Given the description of an element on the screen output the (x, y) to click on. 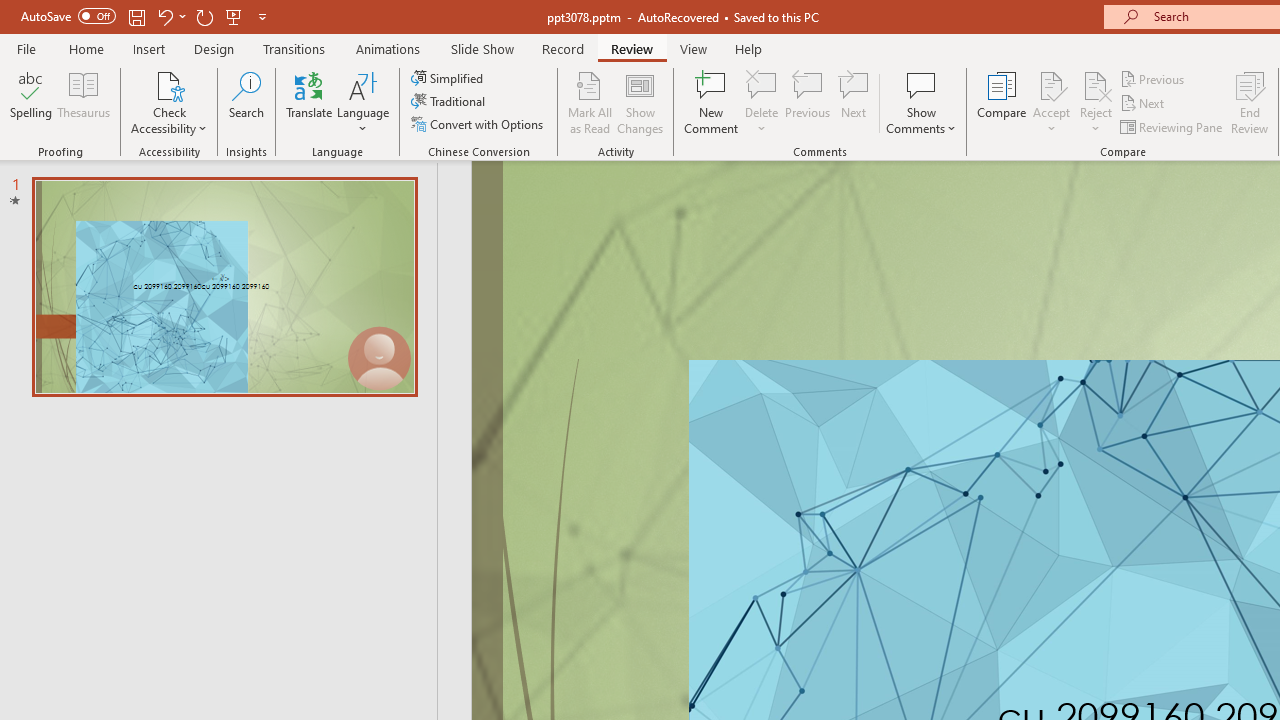
Mark All as Read (589, 102)
Delete (762, 102)
